Given the description of an element on the screen output the (x, y) to click on. 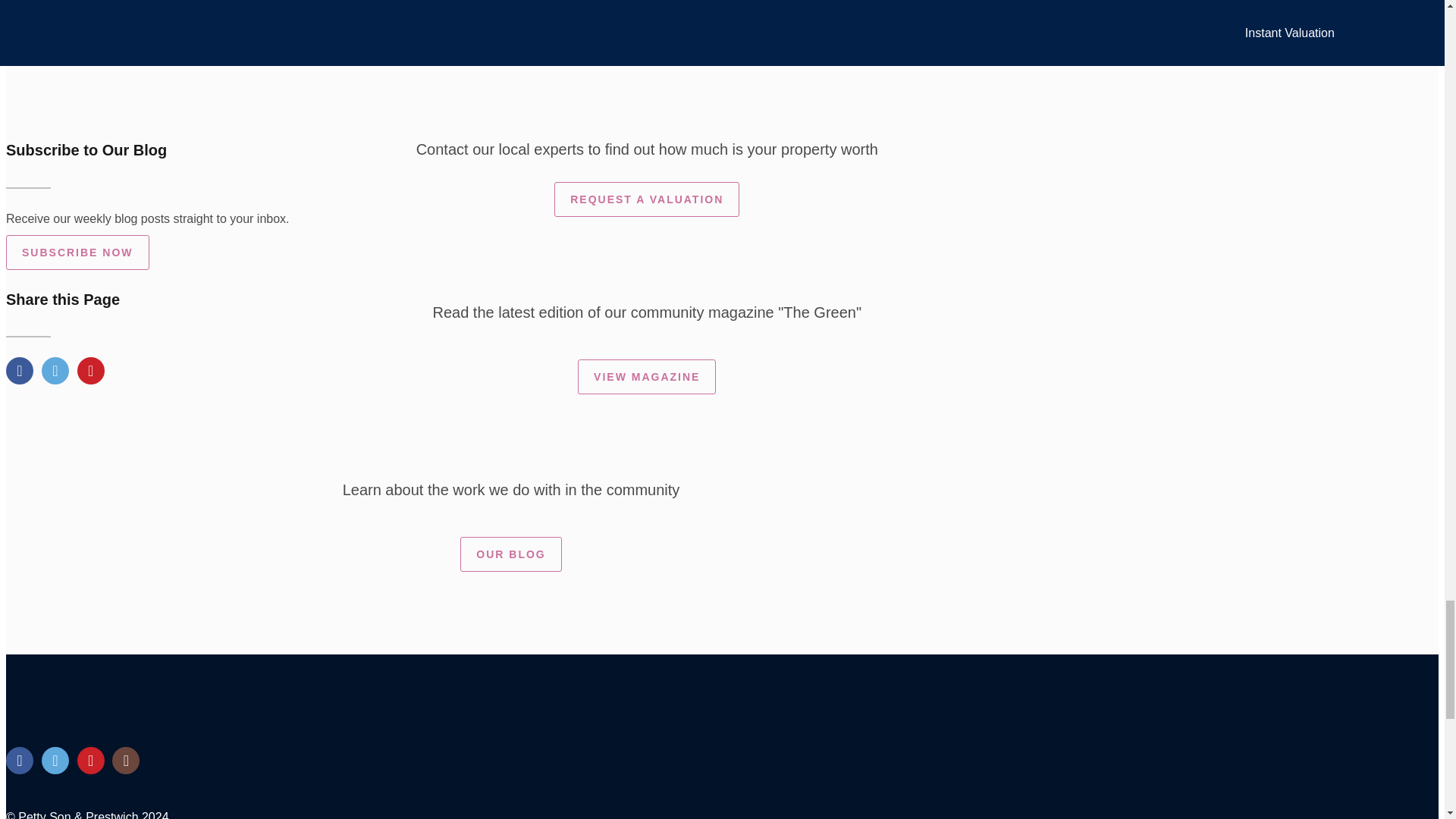
VIEW MAGAZINE (647, 376)
OUR BLOG (510, 554)
SUBSCRIBE NOW (77, 252)
REQUEST A VALUATION (646, 199)
